Given the description of an element on the screen output the (x, y) to click on. 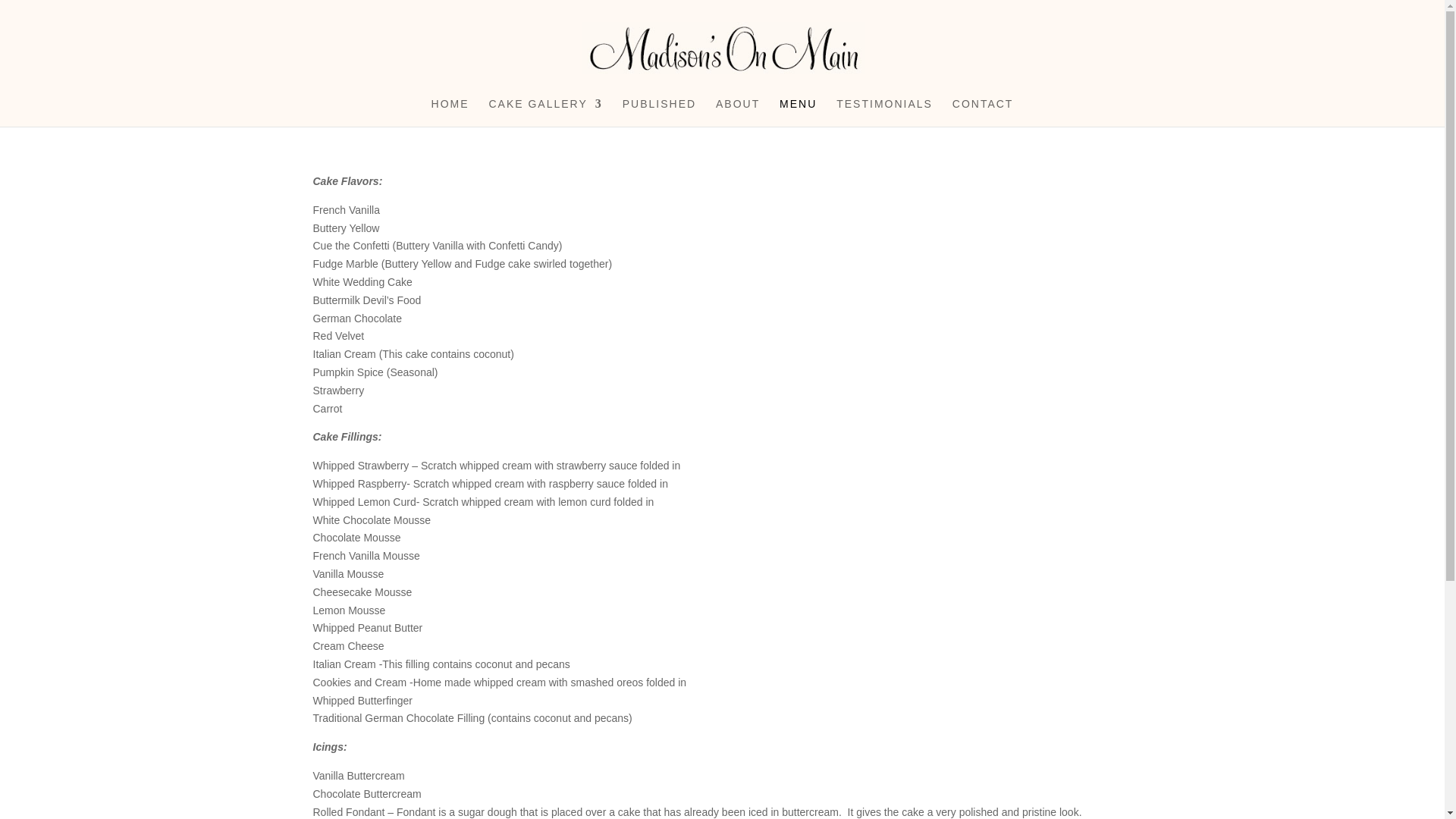
HOME (449, 112)
CAKE GALLERY (544, 112)
PUBLISHED (659, 112)
CONTACT (982, 112)
ABOUT (738, 112)
TESTIMONIALS (884, 112)
MENU (797, 112)
